Given the description of an element on the screen output the (x, y) to click on. 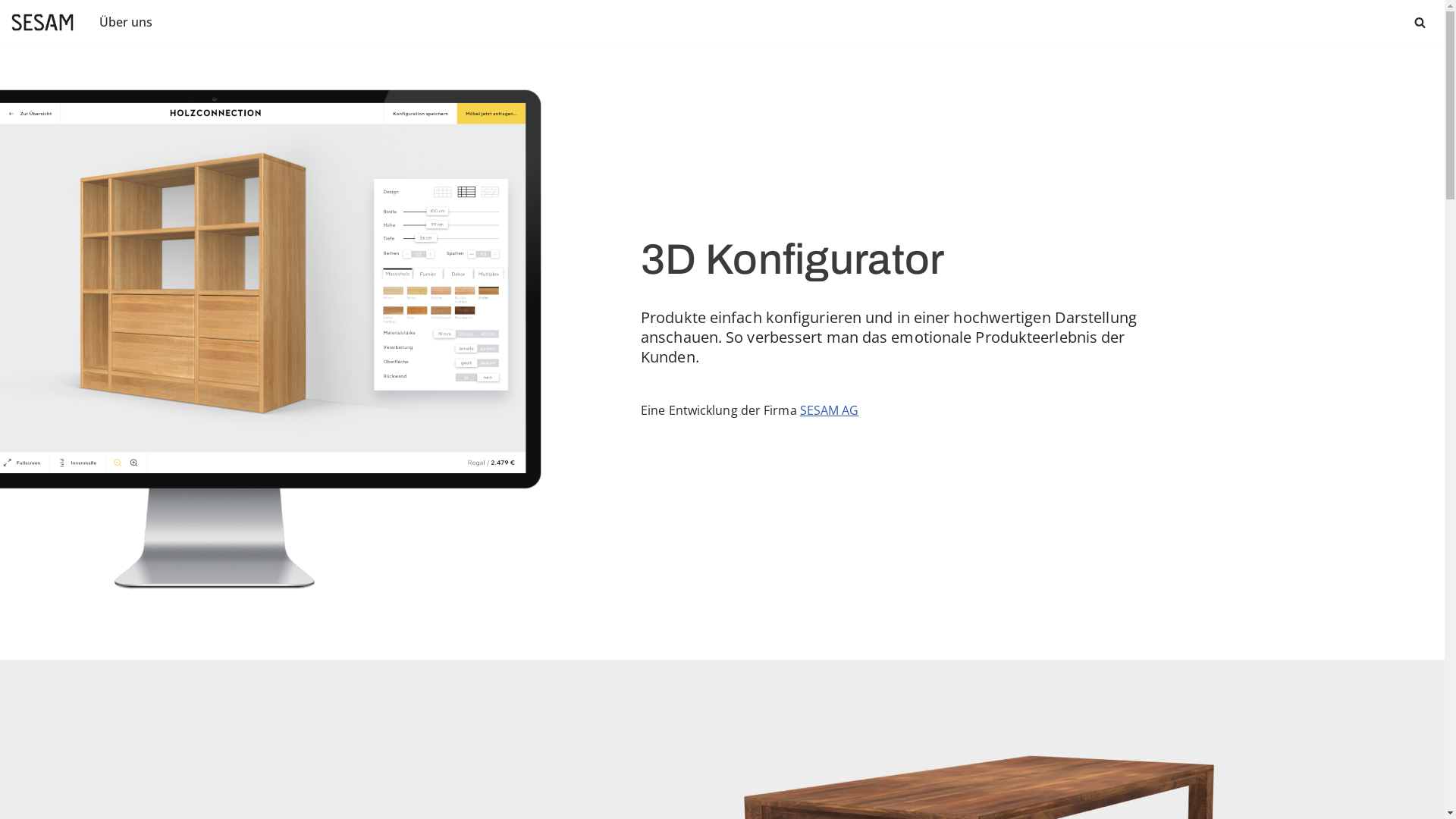
SESAM AG Element type: text (829, 409)
Zum Inhalt Element type: text (11, 31)
